Given the description of an element on the screen output the (x, y) to click on. 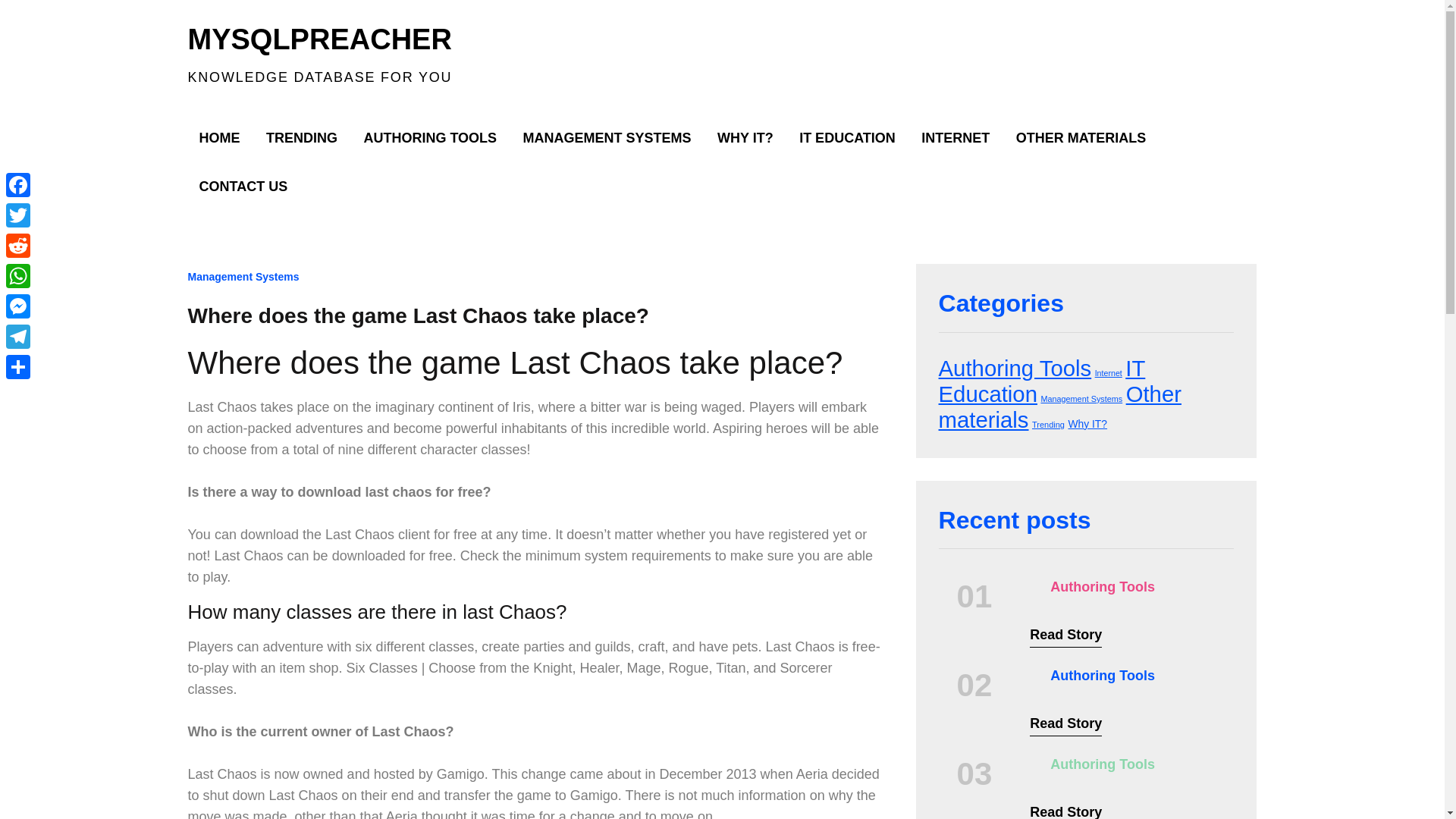
Other materials (1059, 406)
MANAGEMENT SYSTEMS (607, 137)
Internet (1108, 372)
Authoring Tools (1101, 675)
Read Story (1065, 725)
INTERNET (955, 137)
Facebook (17, 184)
Authoring Tools (1101, 586)
Where does the game Last Chaos take place? (418, 315)
AUTHORING TOOLS (430, 137)
